Given the description of an element on the screen output the (x, y) to click on. 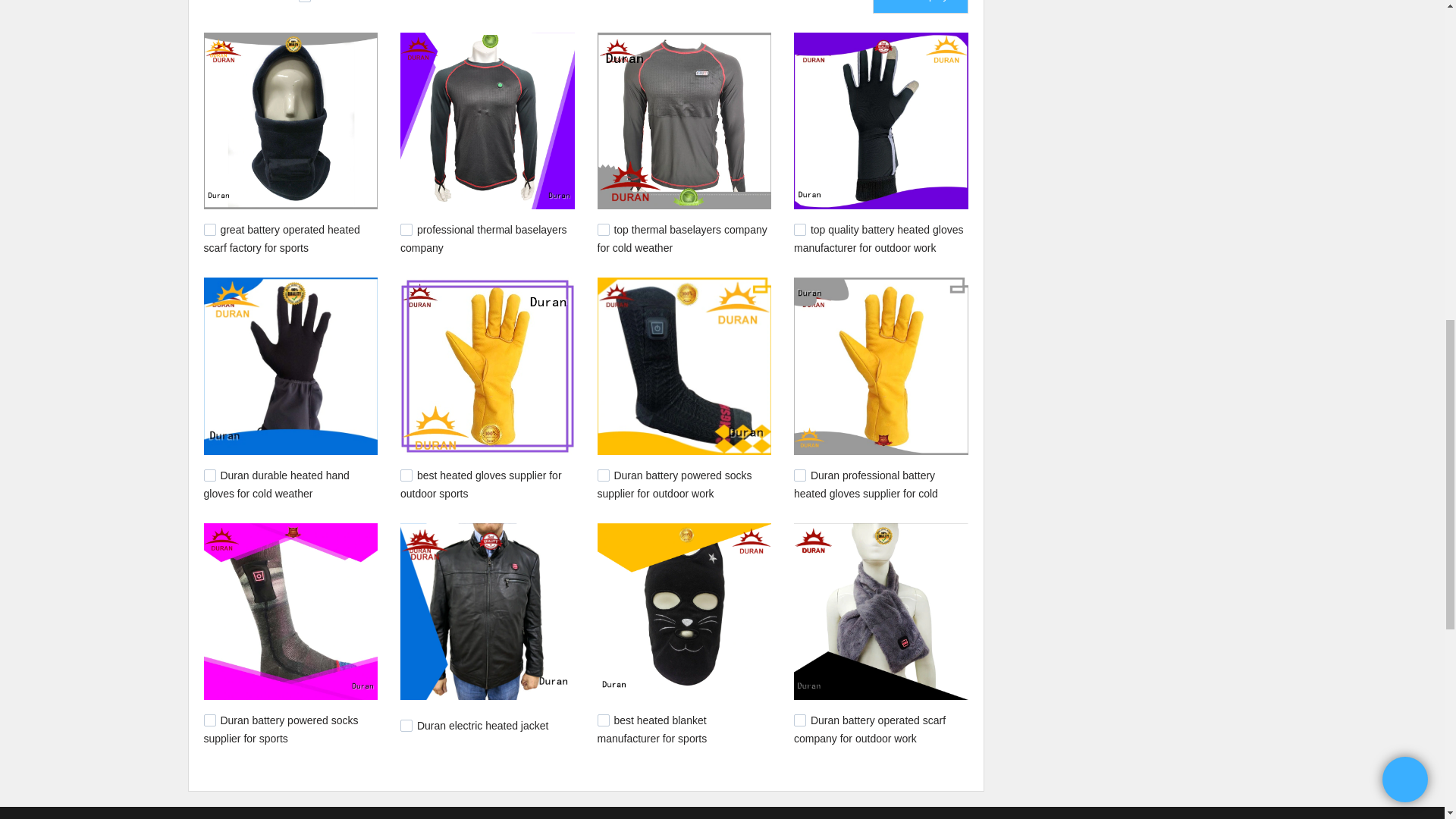
744 (603, 229)
679 (799, 229)
professional thermal baselayers company (483, 238)
626 (406, 475)
594 (603, 475)
great battery operated heated scarf factory for sports (281, 238)
best heated gloves supplier for outdoor sports (481, 484)
817 (209, 229)
